Given the description of an element on the screen output the (x, y) to click on. 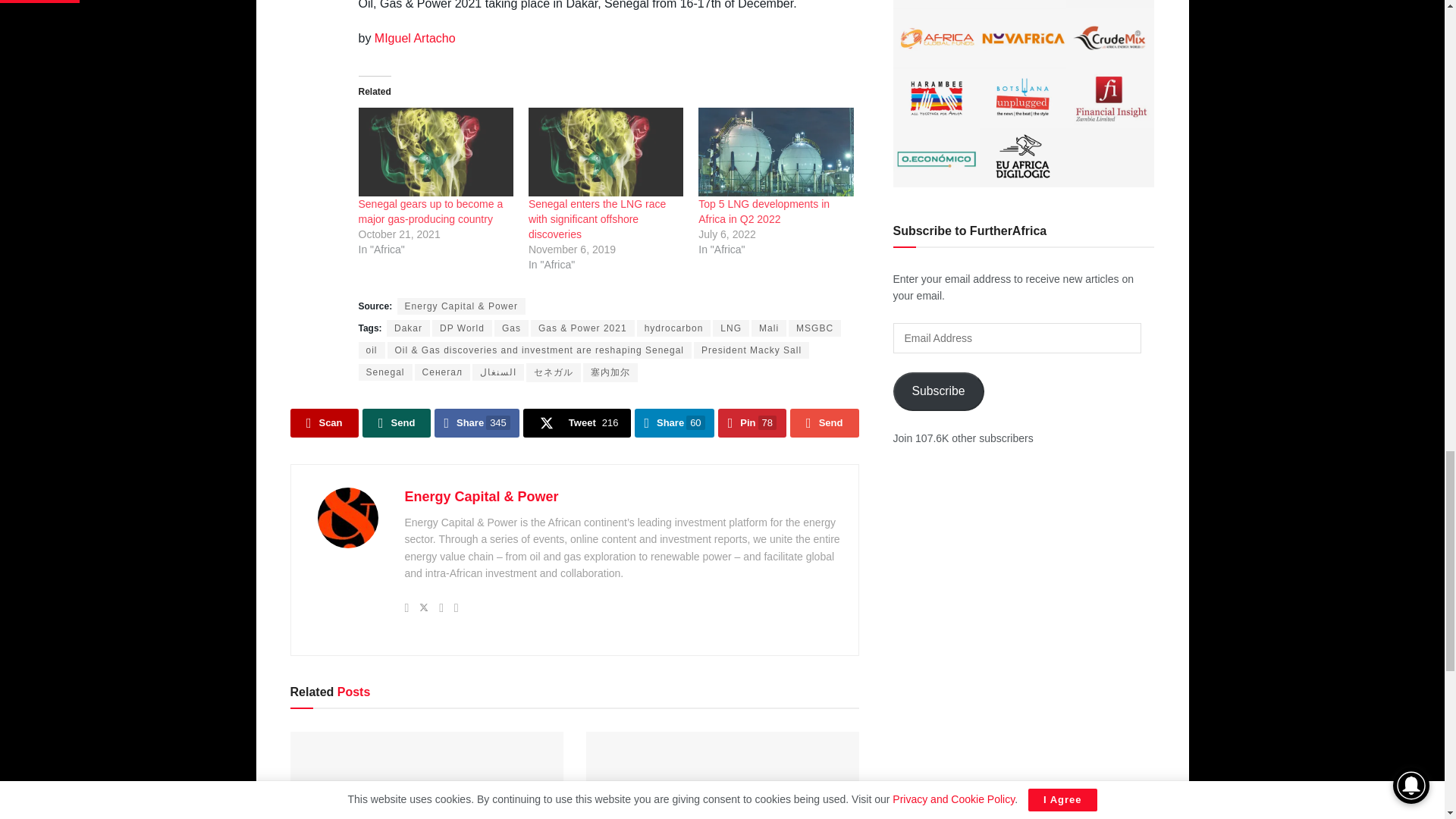
Senegal gears up to become a major gas-producing country (430, 211)
Top 5 LNG developments in Africa in Q2 2022 (775, 151)
Senegal gears up to become a major gas-producing country (435, 151)
Top 5 LNG developments in Africa in Q2 2022 (763, 211)
